Given the description of an element on the screen output the (x, y) to click on. 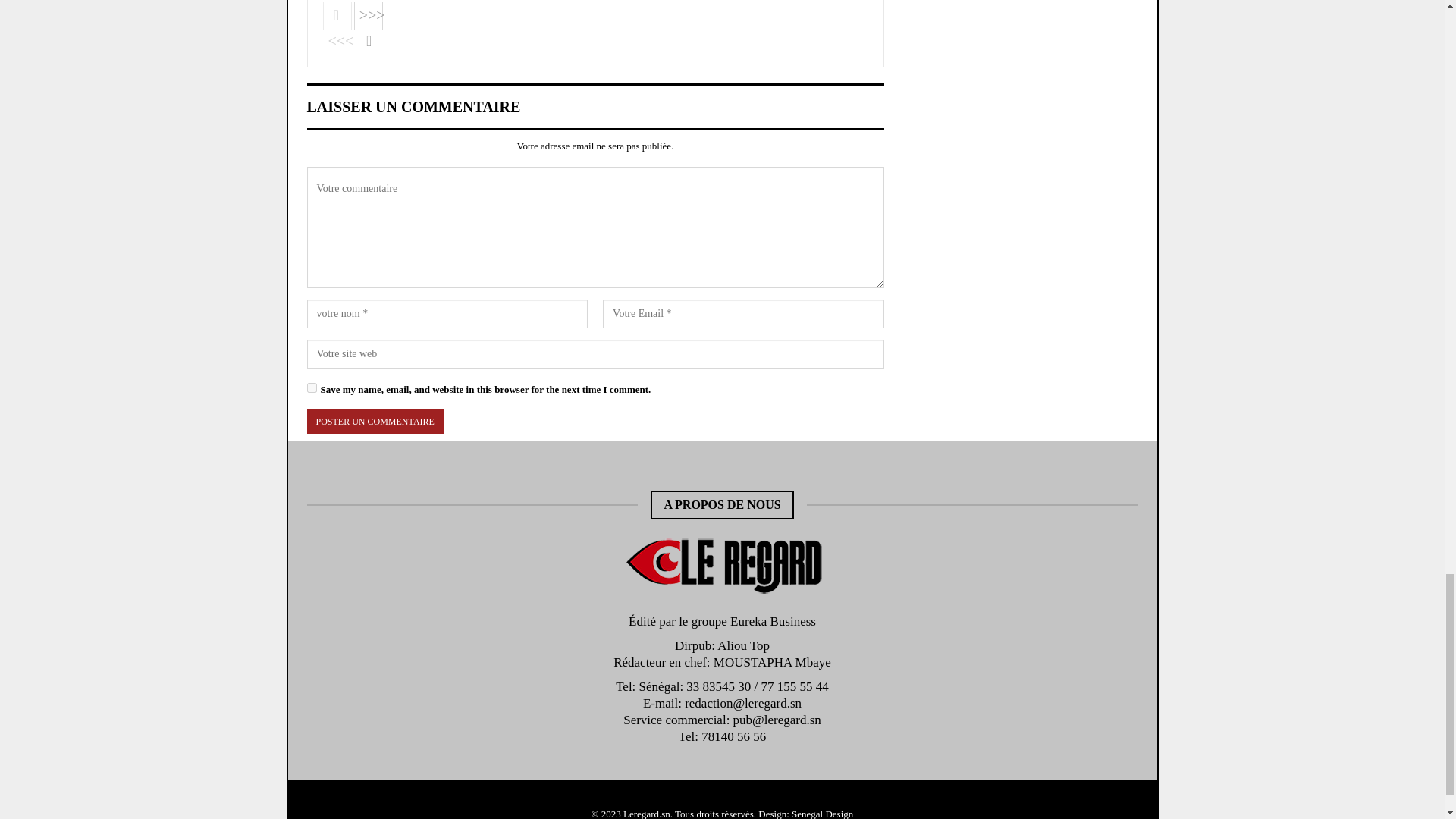
yes (310, 388)
Poster un commentaire (373, 421)
